Given the description of an element on the screen output the (x, y) to click on. 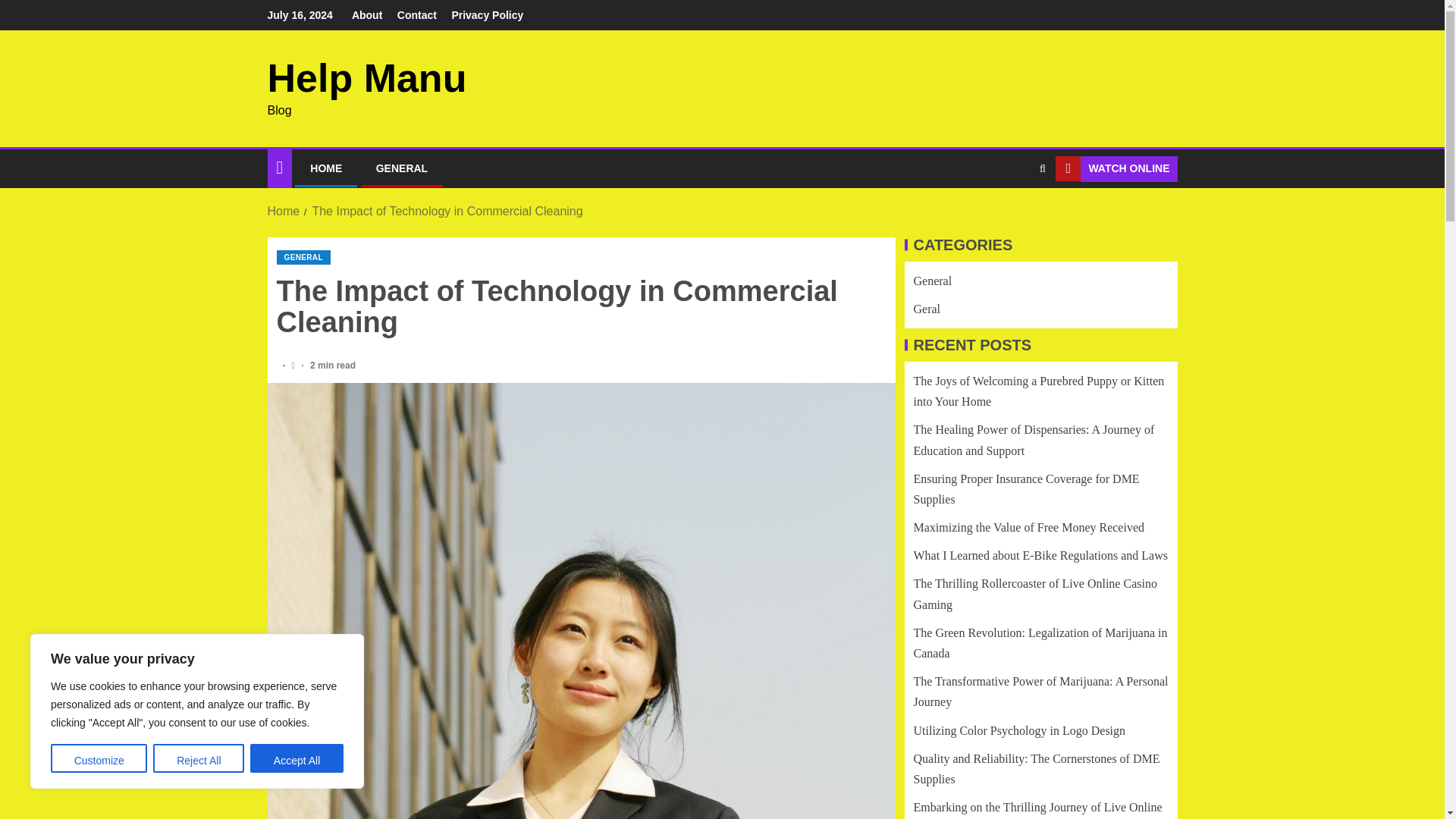
GENERAL (303, 257)
Accept All (296, 758)
Customize (98, 758)
Contact (416, 15)
Reject All (198, 758)
WATCH ONLINE (1115, 168)
The Impact of Technology in Commercial Cleaning (446, 210)
Help Manu (365, 77)
GENERAL (401, 168)
Privacy Policy (486, 15)
About (366, 15)
HOME (326, 168)
Home (282, 210)
